Given the description of an element on the screen output the (x, y) to click on. 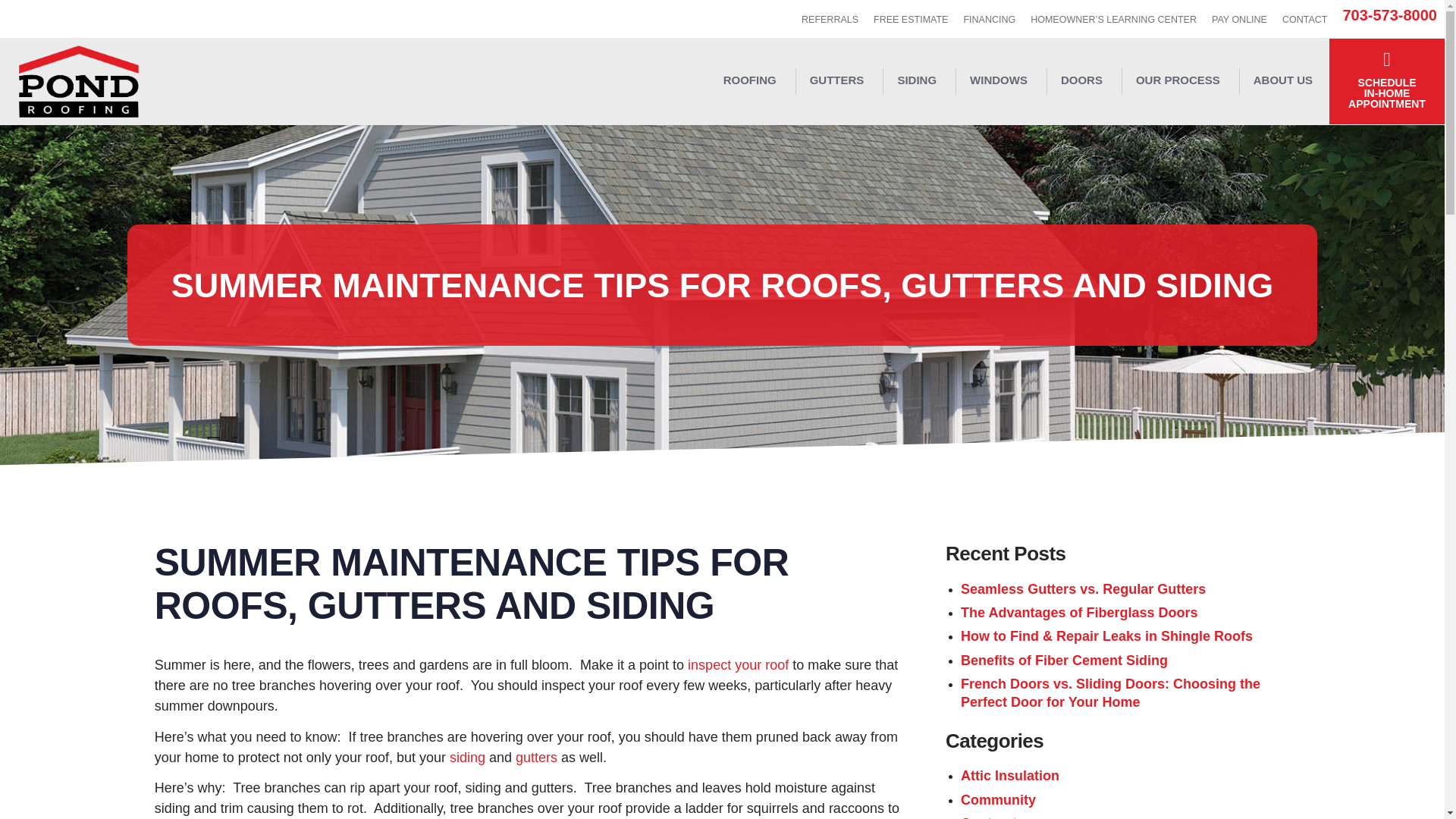
Pond Roofing Company, Inc (78, 80)
